Given the description of an element on the screen output the (x, y) to click on. 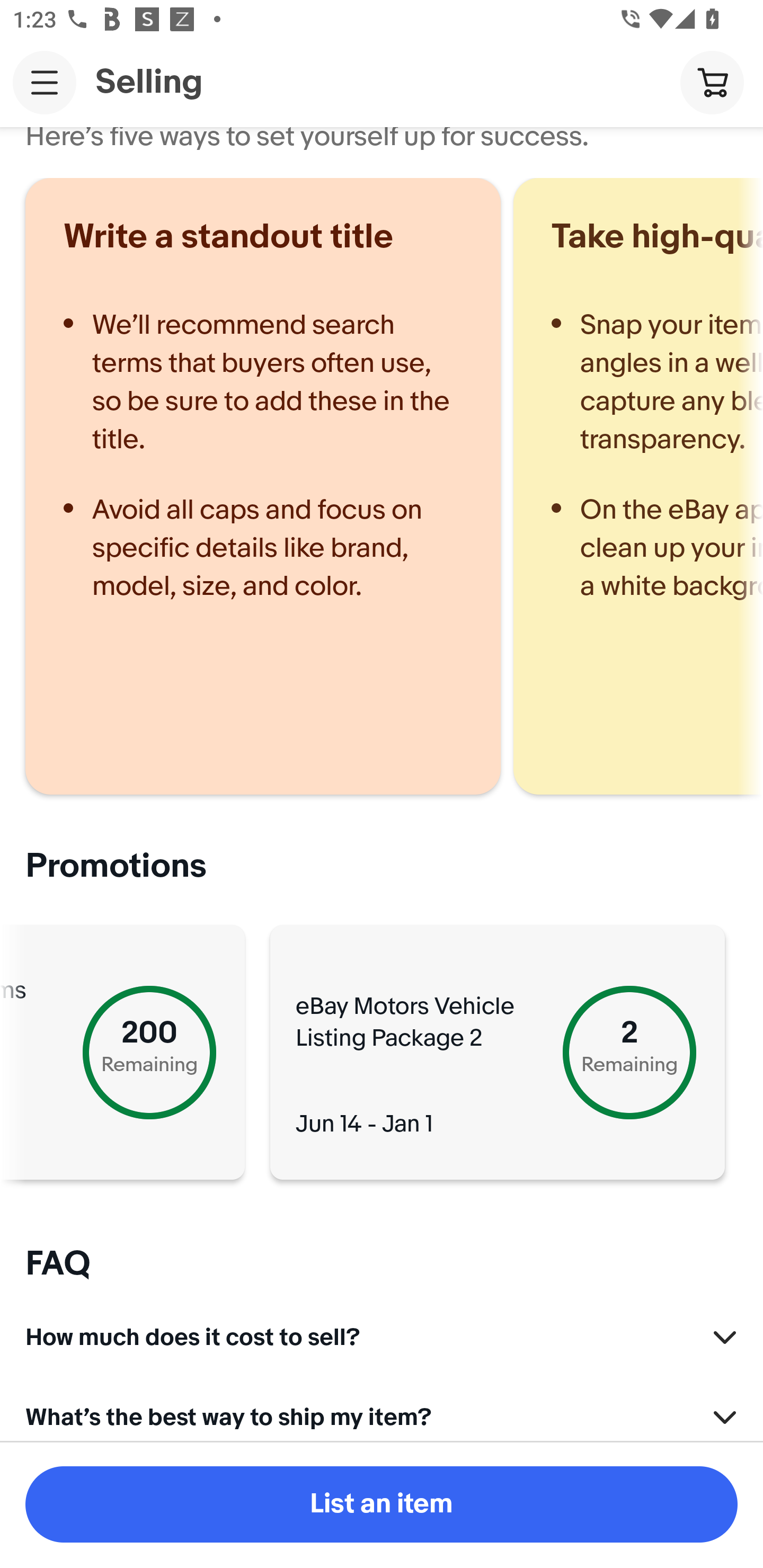
Main navigation, open (44, 82)
Cart button shopping cart (711, 81)
How much does it cost to sell? (381, 1331)
What’s the best way to ship my item? (381, 1415)
List an item (381, 1504)
